Given the description of an element on the screen output the (x, y) to click on. 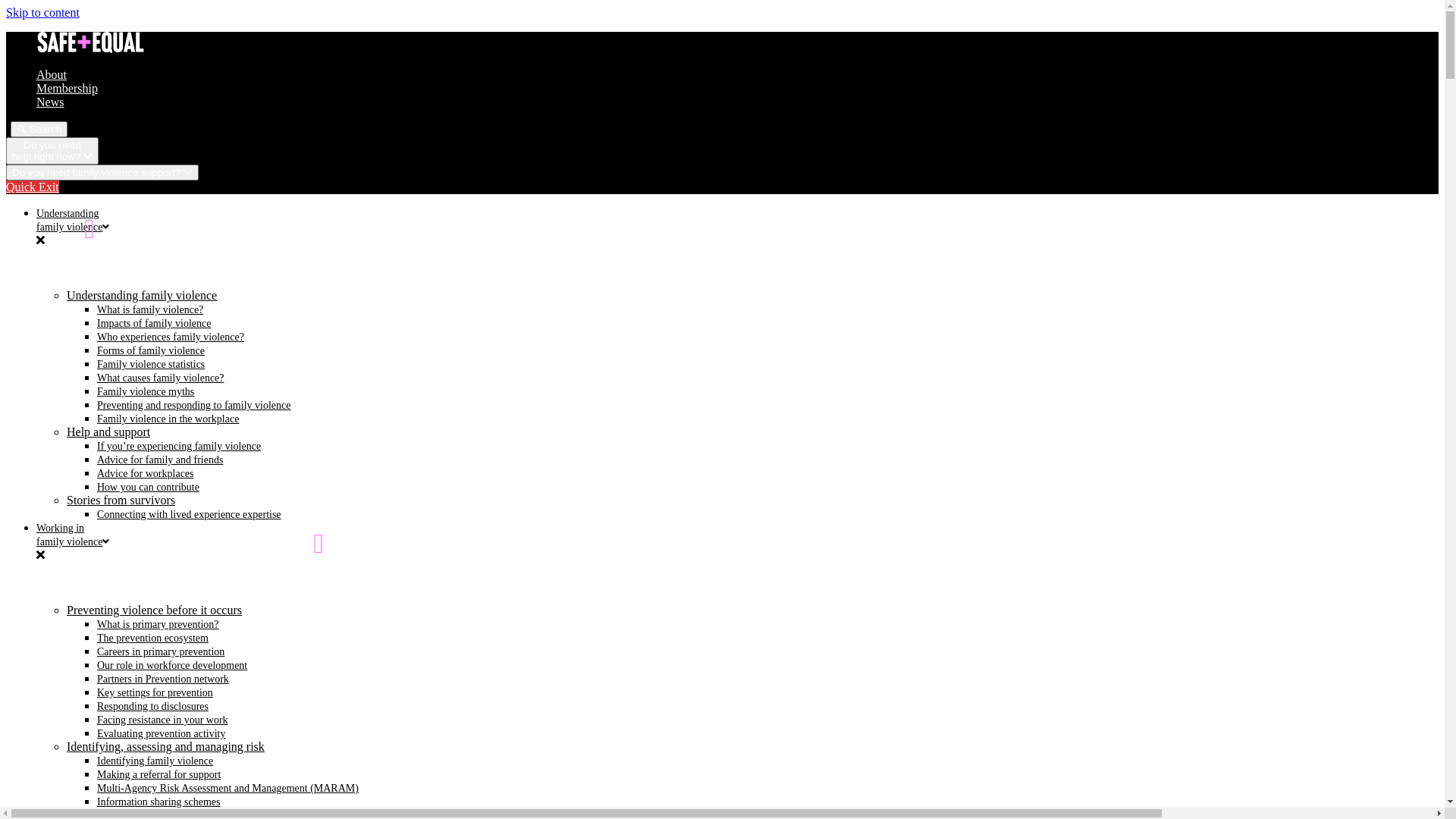
Advice for workplaces Element type: text (145, 473)
Do you need
help right now? Element type: text (52, 150)
Key settings for prevention Element type: text (155, 692)
Working in
family violence Element type: text (72, 534)
Impacts of family violence Element type: text (153, 323)
Preventing and responding to family violence Element type: text (193, 405)
Partners in Prevention network Element type: text (163, 678)
Our role in workforce development Element type: text (172, 665)
Membership Element type: text (66, 87)
News Element type: text (49, 101)
How you can contribute Element type: text (148, 486)
Understanding family violence Element type: text (141, 294)
What causes family violence? Element type: text (160, 377)
Family violence in the workplace Element type: text (167, 418)
The prevention ecosystem Element type: text (152, 637)
Skip to content Element type: text (42, 12)
Facing resistance in your work Element type: text (162, 719)
Evaluating prevention activity Element type: text (161, 733)
Do you need family violence support? Element type: text (102, 172)
Advice for family and friends Element type: text (159, 459)
Search Element type: text (38, 129)
Family violence statistics Element type: text (150, 364)
Stories from survivors Element type: text (120, 499)
Preventing violence before it occurs Element type: text (153, 609)
Help and support Element type: text (108, 431)
About Element type: text (51, 74)
What is primary prevention? Element type: text (158, 624)
Identifying family violence Element type: text (155, 760)
Forms of family violence Element type: text (150, 350)
Understanding
family violence Element type: text (72, 220)
Making a referral for support Element type: text (158, 774)
What is family violence? Element type: text (150, 309)
Responding to disclosures Element type: text (152, 706)
Connecting with lived experience expertise Element type: text (189, 514)
Who experiences family violence? Element type: text (170, 336)
Information sharing schemes Element type: text (158, 801)
Quick Exit Element type: text (32, 186)
Careers in primary prevention Element type: text (160, 651)
Identifying, assessing and managing risk Element type: text (165, 746)
Multi-Agency Risk Assessment and Management (MARAM) Element type: text (227, 787)
Family violence myths Element type: text (145, 391)
